Given the description of an element on the screen output the (x, y) to click on. 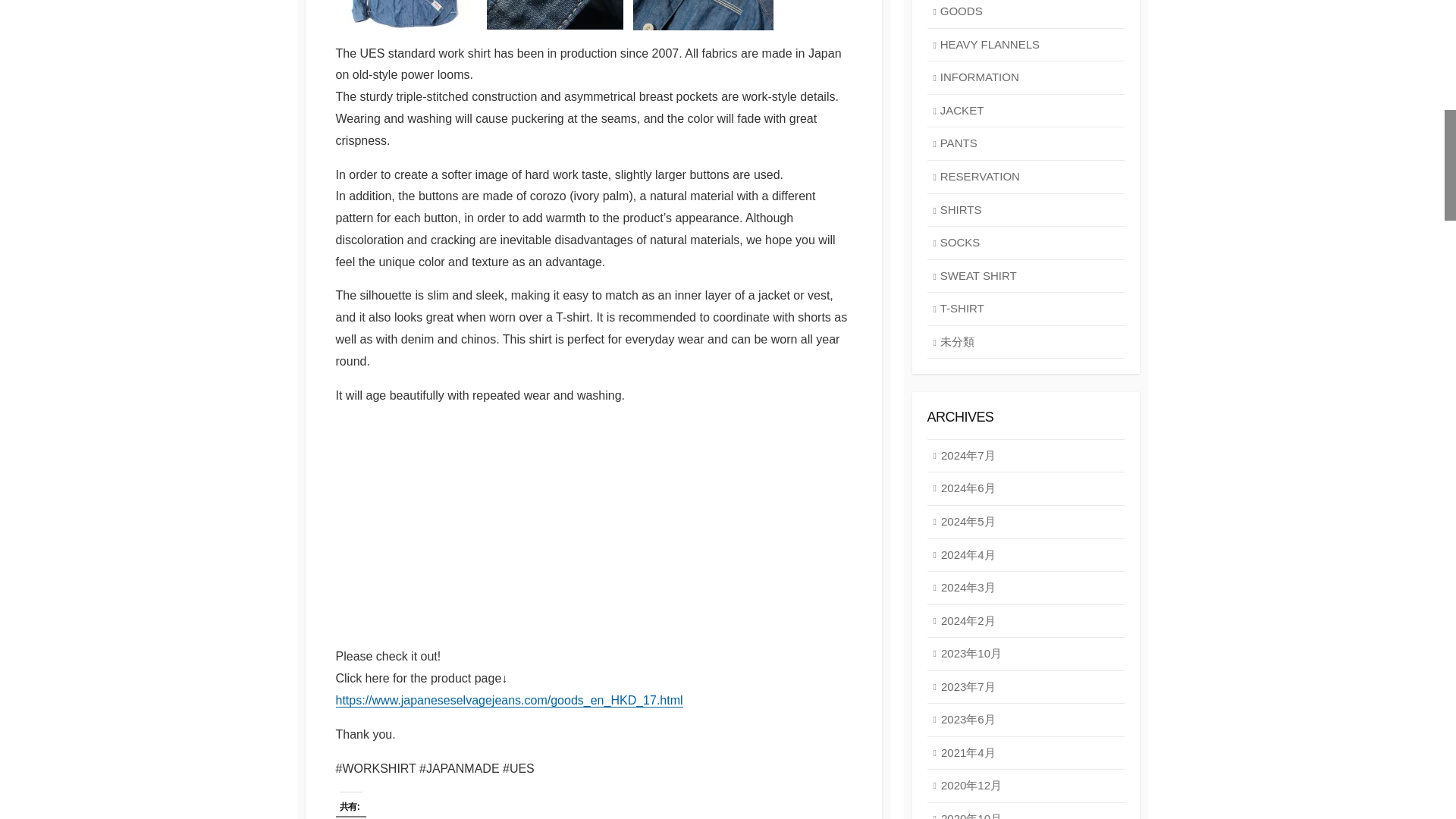
INFORMATION (1025, 78)
HEAVY FLANNELS (1025, 45)
GOODS (1025, 14)
